Given the description of an element on the screen output the (x, y) to click on. 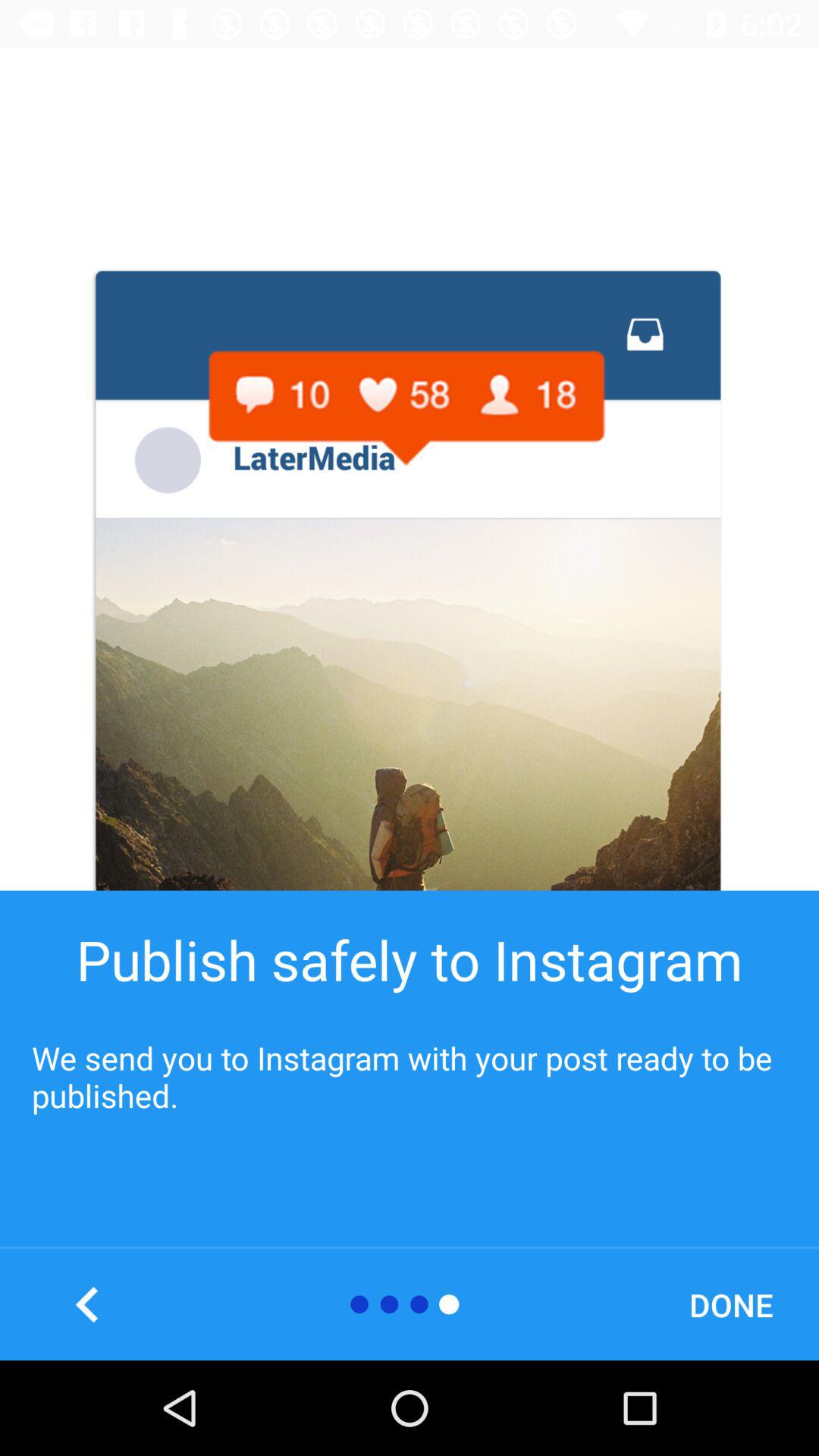
choose the done at the bottom right corner (731, 1304)
